Given the description of an element on the screen output the (x, y) to click on. 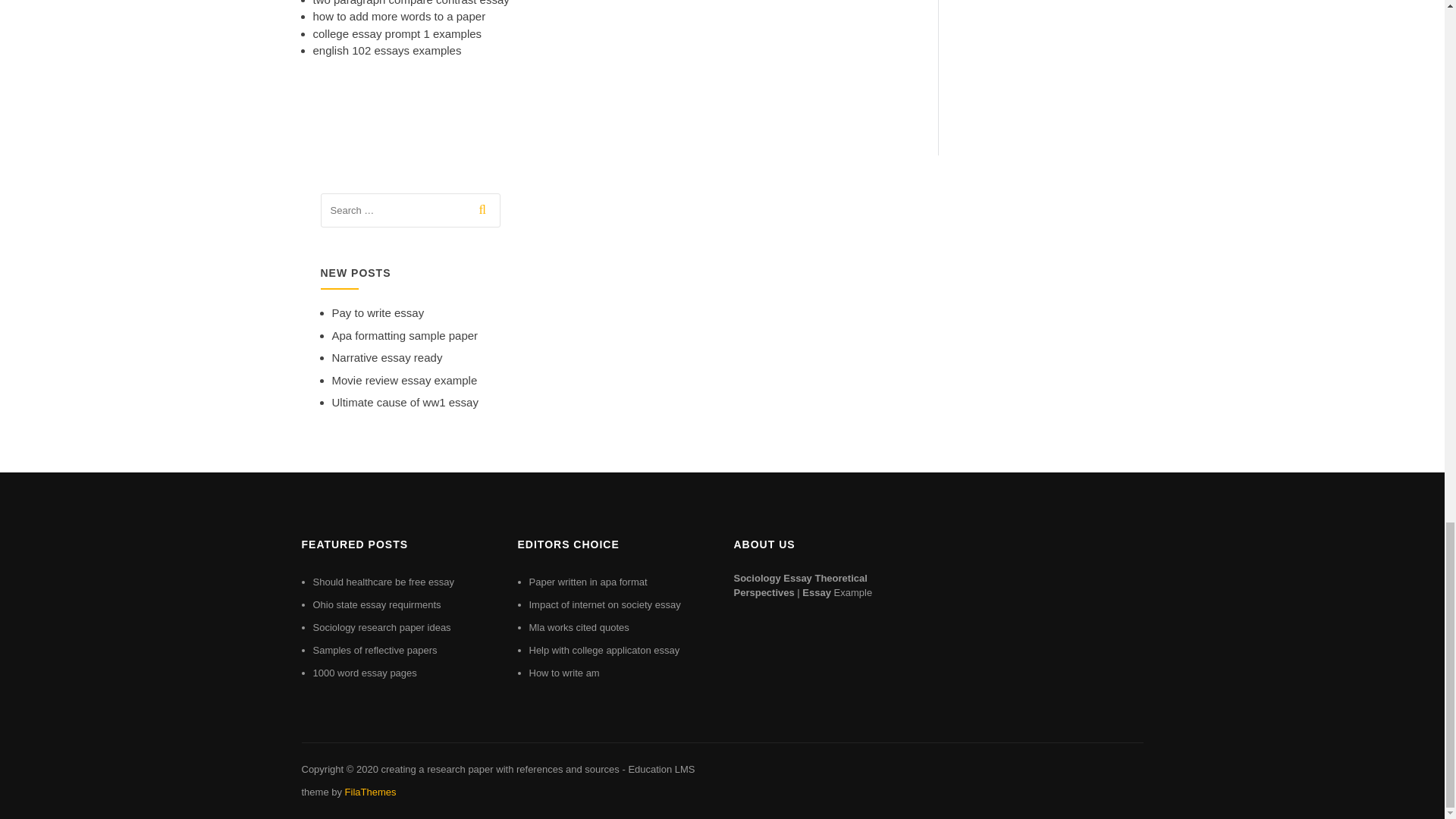
How to write am (564, 672)
Mla works cited quotes (578, 627)
Paper written in apa format (588, 582)
Should healthcare be free essay (382, 582)
college essay prompt 1 examples (397, 33)
creating a research paper with references and sources (499, 768)
Pay to write essay (378, 312)
1000 word essay pages (364, 672)
Help with college applicaton essay (604, 650)
Sociology research paper ideas (381, 627)
